Given the description of an element on the screen output the (x, y) to click on. 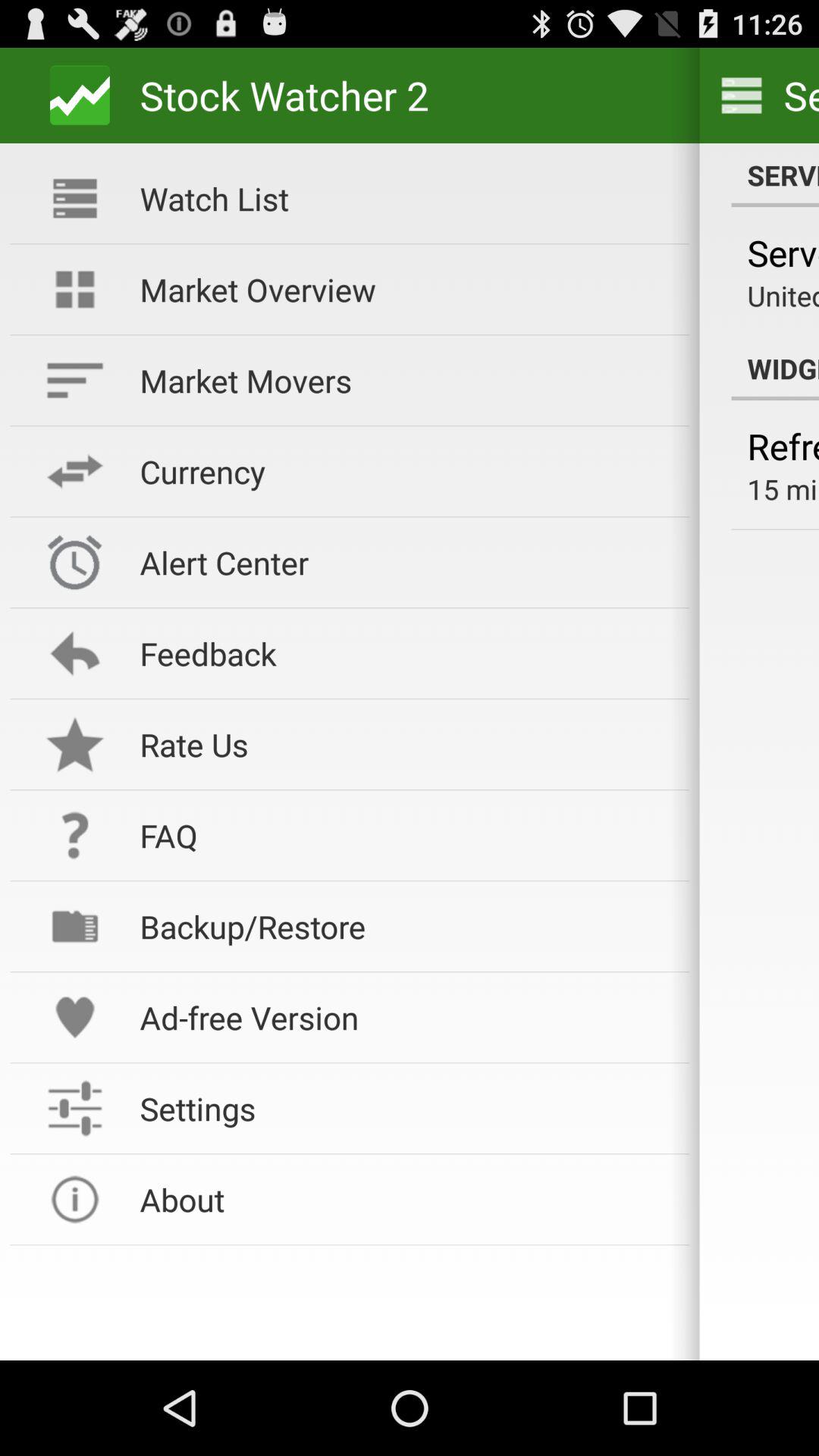
turn off the rate us icon (404, 744)
